Given the description of an element on the screen output the (x, y) to click on. 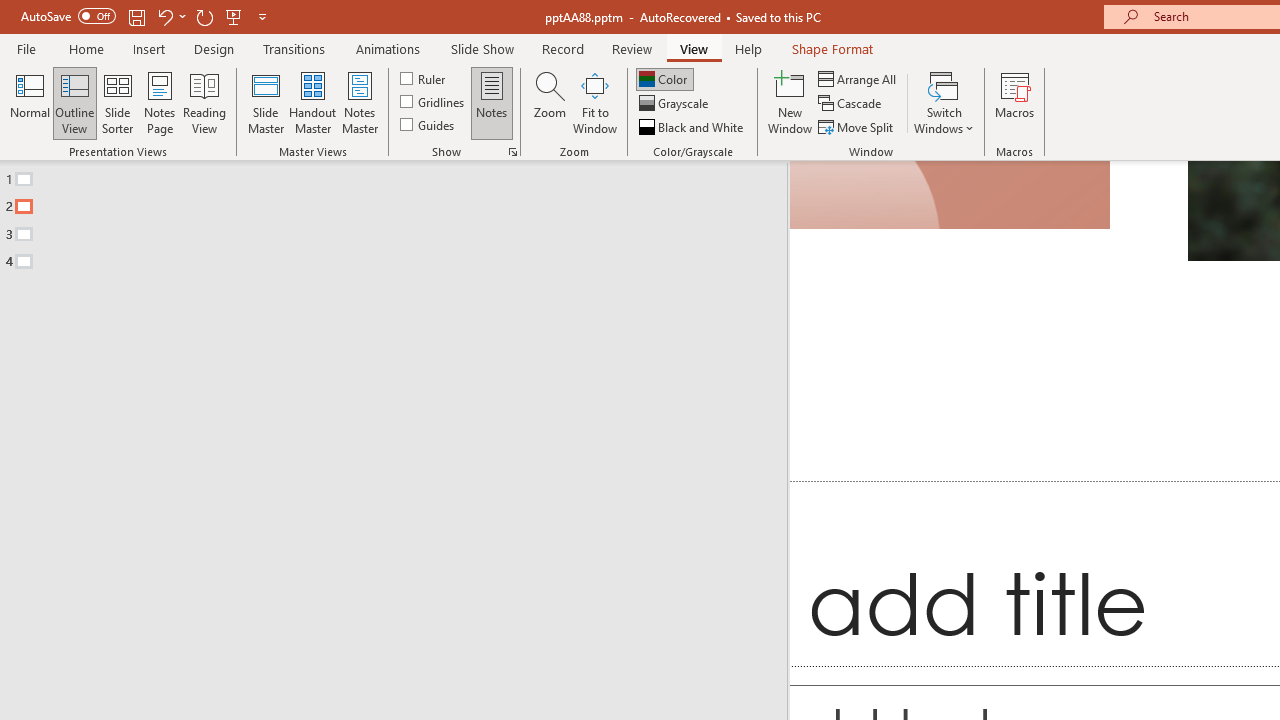
Gridlines (433, 101)
Ruler (423, 78)
